Given the description of an element on the screen output the (x, y) to click on. 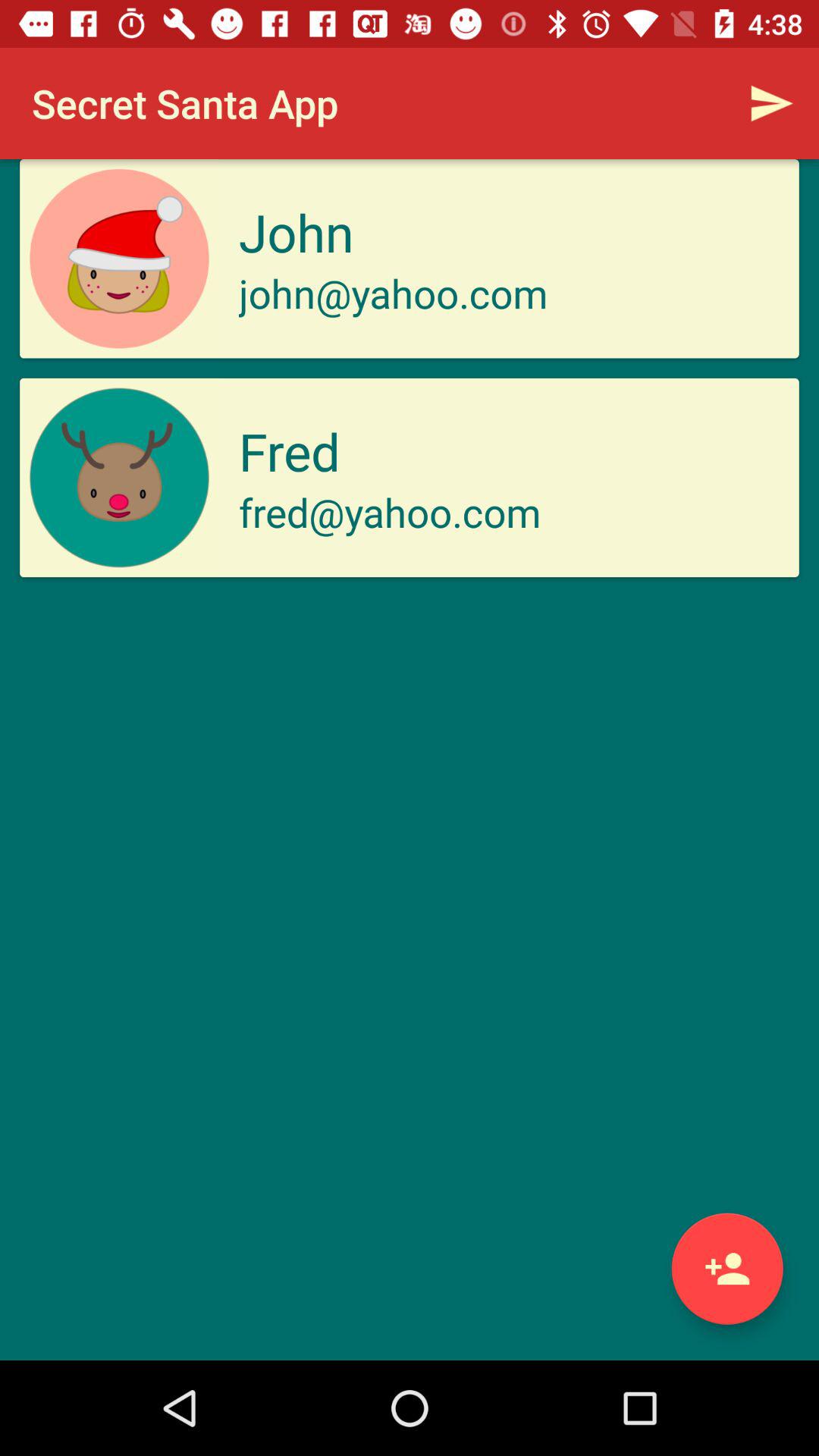
choose the item at the bottom right corner (727, 1268)
